Given the description of an element on the screen output the (x, y) to click on. 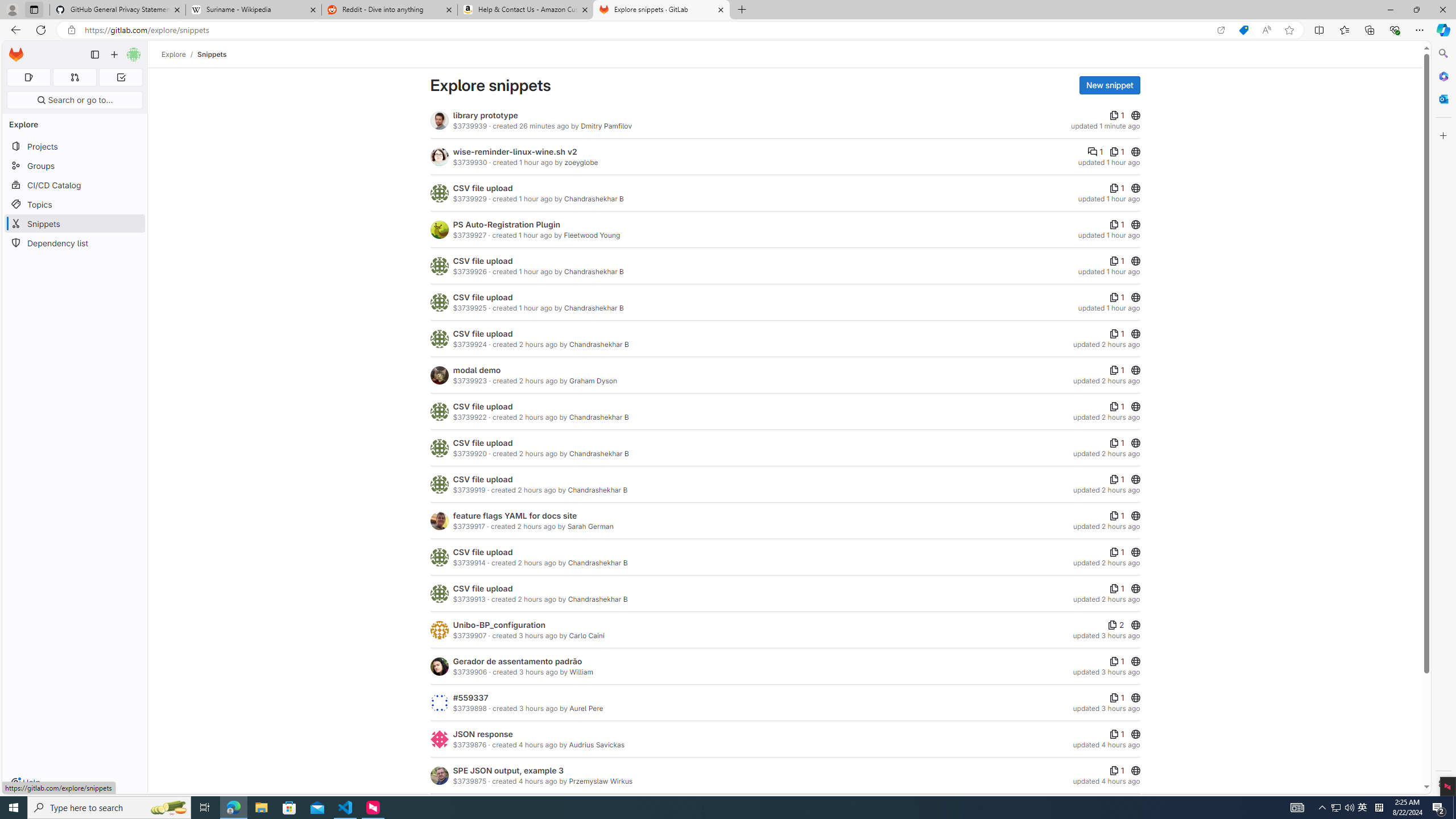
Snippets (212, 53)
Snippets (212, 53)
Homepage (16, 54)
Explore/ (179, 53)
Projects (74, 145)
Unibo-BP_configuration (499, 624)
Projects (74, 145)
Skip to main content (13, 49)
